Given the description of an element on the screen output the (x, y) to click on. 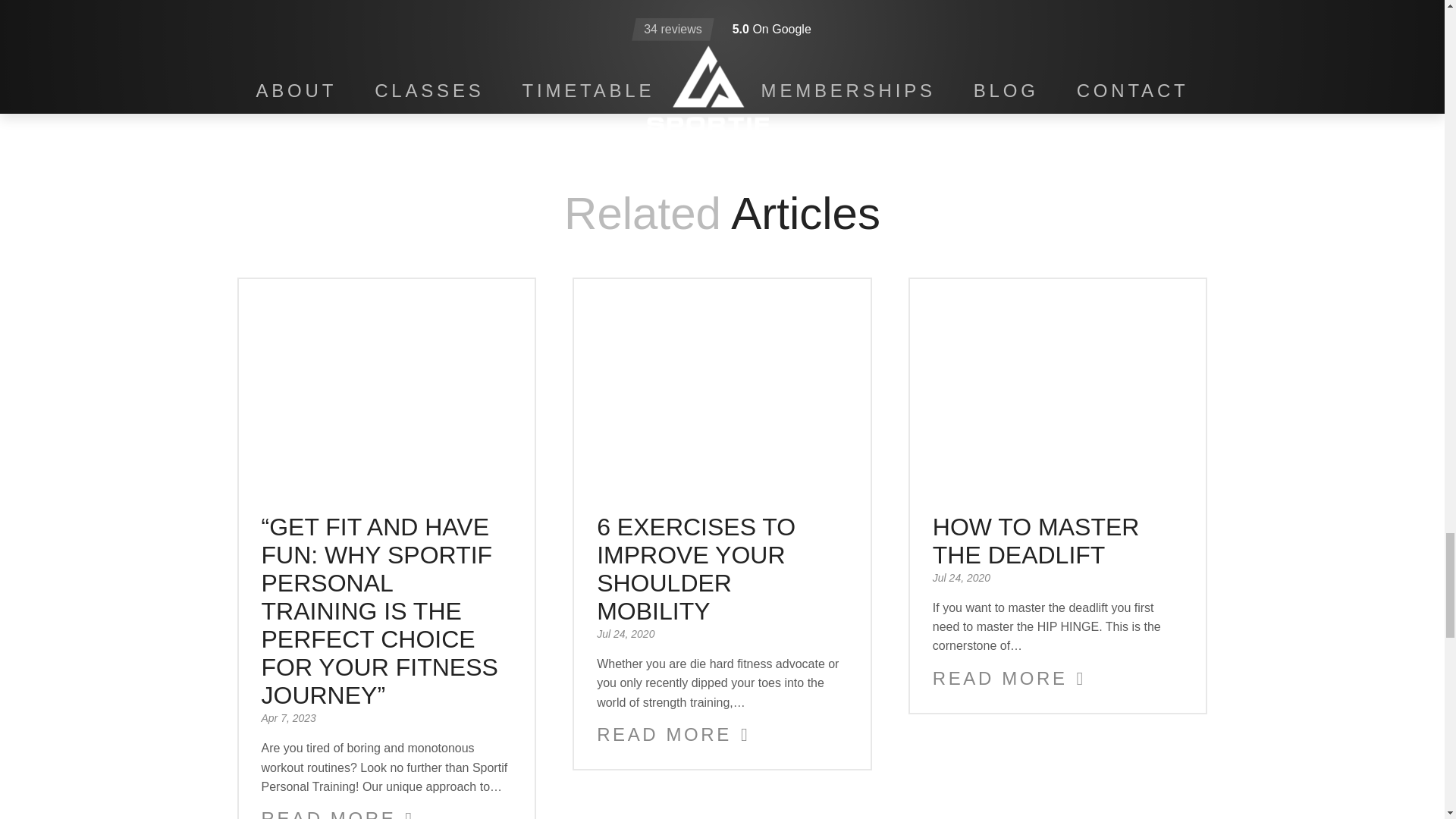
READ MORE (672, 734)
READ MORE (336, 813)
6 EXERCISES TO IMPROVE YOUR SHOULDER MOBILITY (695, 568)
READ MORE (1009, 679)
HOW TO MASTER THE DEADLIFT (1036, 540)
